Given the description of an element on the screen output the (x, y) to click on. 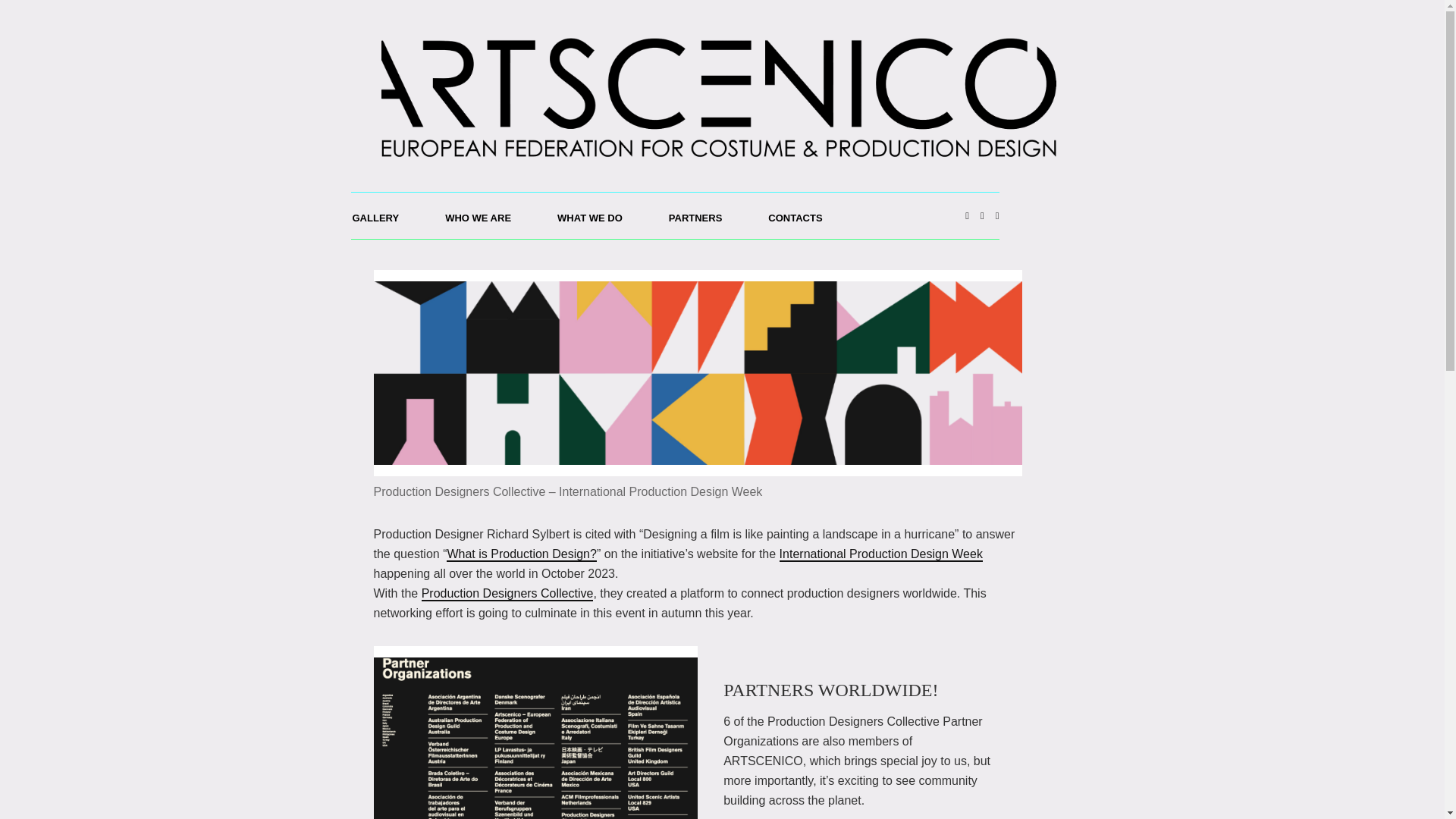
WHAT WE DO (600, 214)
Production Designers Collective (508, 594)
WHO WE ARE (489, 214)
What is Production Design? (520, 554)
CONTACTS (805, 214)
GALLERY (386, 214)
PARTNERS (705, 214)
International Production Design Week (880, 554)
